Given the description of an element on the screen output the (x, y) to click on. 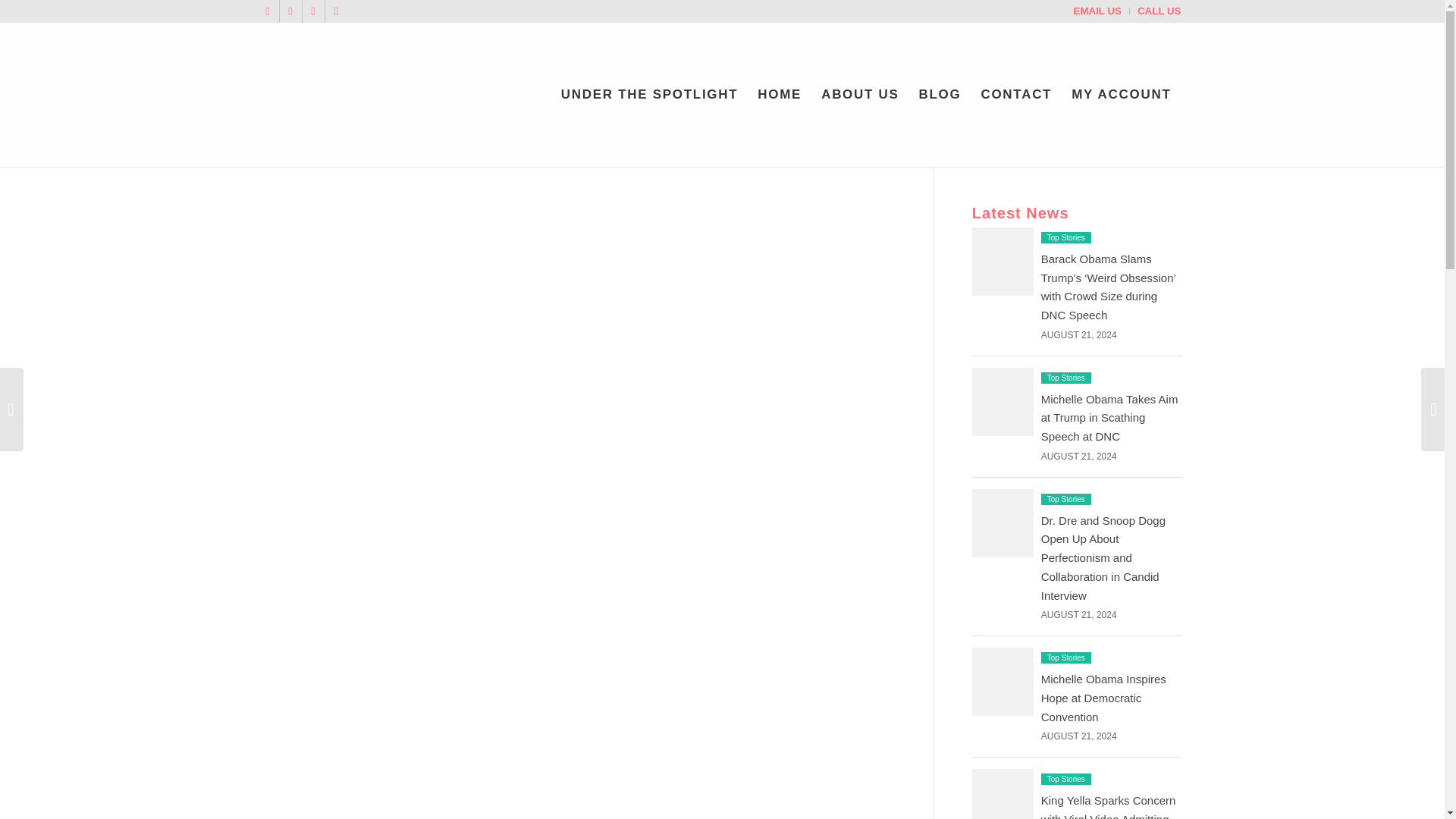
Instagram (335, 11)
Facebook (290, 11)
Twitter (267, 11)
UNDER THE SPOTLIGHT (649, 94)
Youtube (312, 11)
CALL US (1158, 11)
EMAIL US (1097, 11)
